Given the description of an element on the screen output the (x, y) to click on. 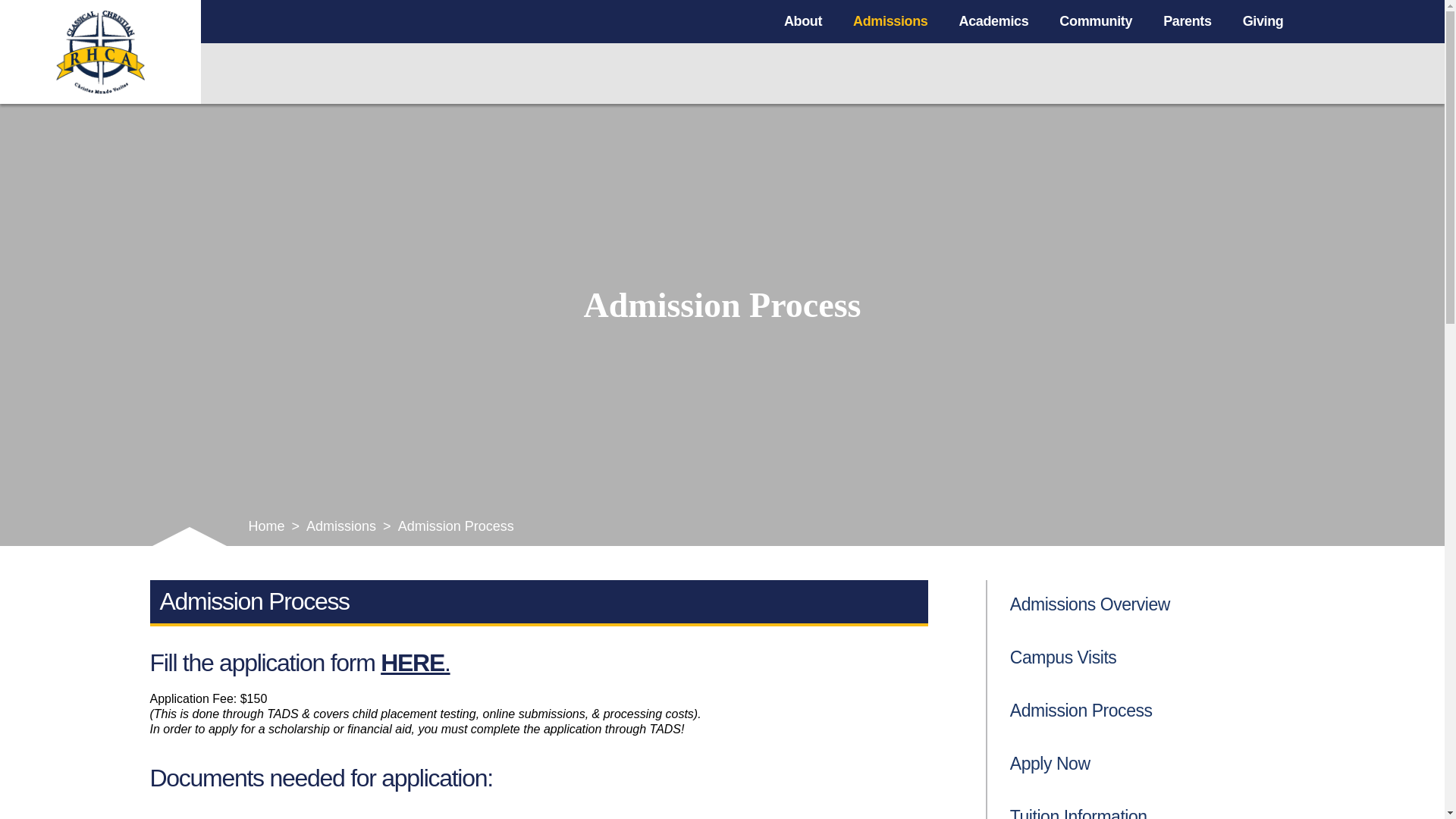
Admissions Overview Element type: text (1141, 604)
Admissions Element type: text (890, 21)
Academics Element type: text (994, 21)
Fill the application form HERE Element type: text (297, 662)
Admission Process Element type: text (1141, 710)
Campus Visits Element type: text (1141, 657)
Utility Navigation Element type: hover (1272, 73)
Admissions Element type: text (341, 526)
Community Element type: text (1095, 21)
Admission Process Element type: text (456, 526)
Apply Now Element type: text (1141, 763)
Home Element type: text (266, 526)
Search Element type: hover (1220, 73)
Parents Element type: text (1187, 21)
Giving Element type: text (1262, 21)
About Element type: text (803, 21)
